Given the description of an element on the screen output the (x, y) to click on. 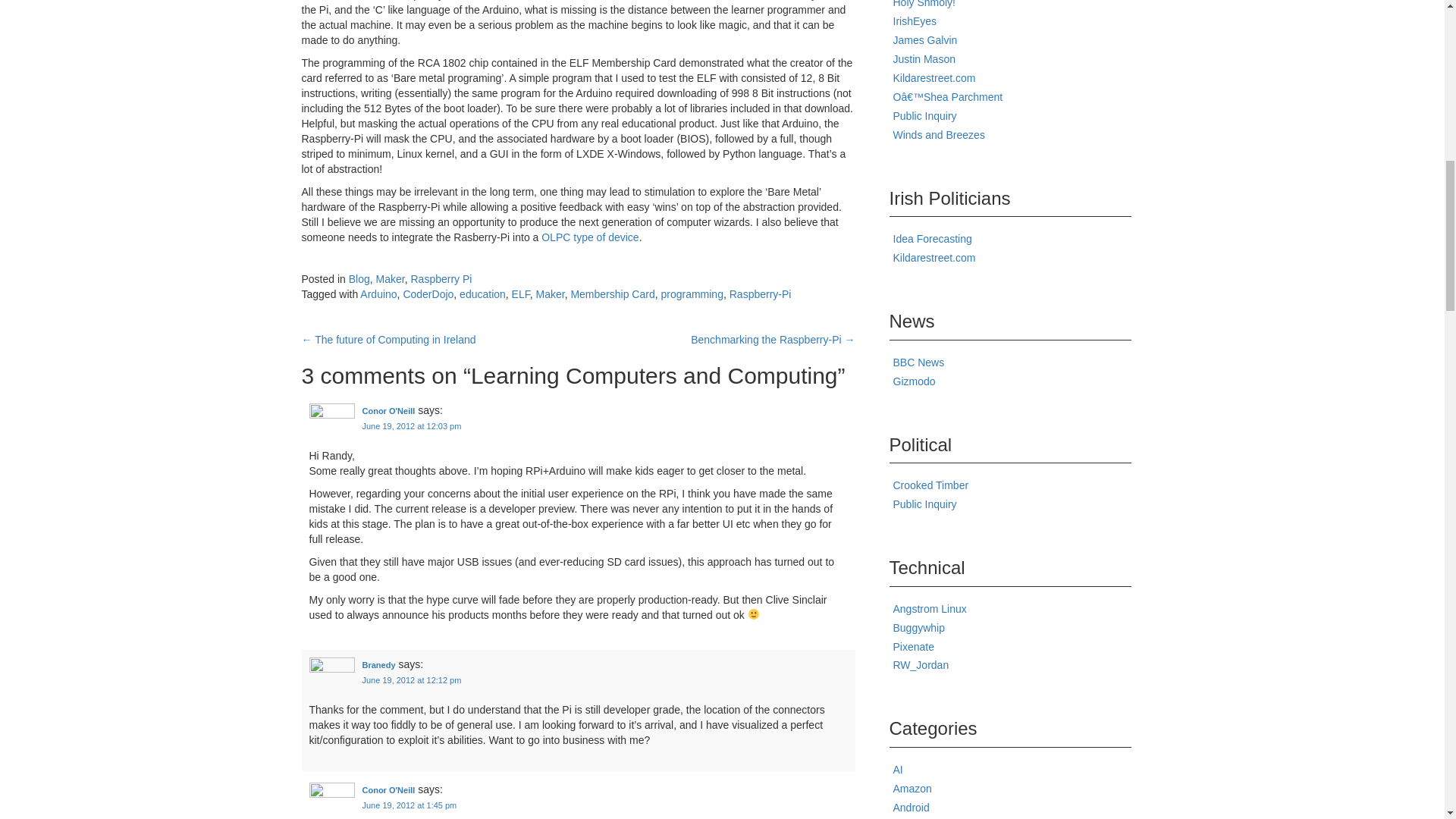
Raspberry-Pi (760, 294)
ELF (520, 294)
Blog (359, 278)
CoderDojo (427, 294)
Ideas are free (932, 238)
programming (691, 294)
Maker (389, 278)
Arduino (377, 294)
Conor O'Neill (388, 410)
OLPC type of device (590, 236)
OLPC (590, 236)
Membership Card (611, 294)
education (482, 294)
Maker (549, 294)
Raspberry Pi (440, 278)
